Given the description of an element on the screen output the (x, y) to click on. 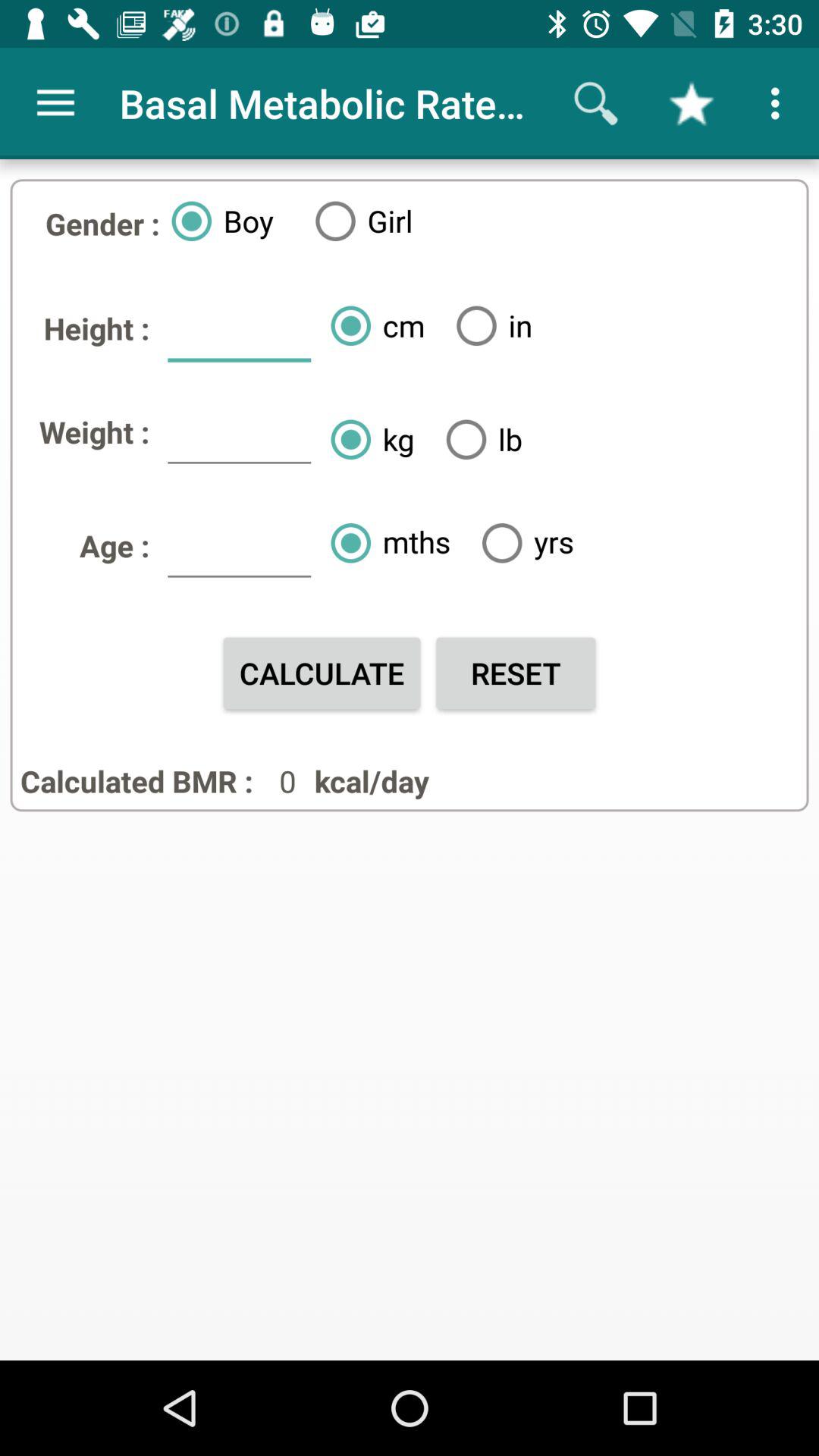
launch item to the right of boy icon (357, 221)
